Given the description of an element on the screen output the (x, y) to click on. 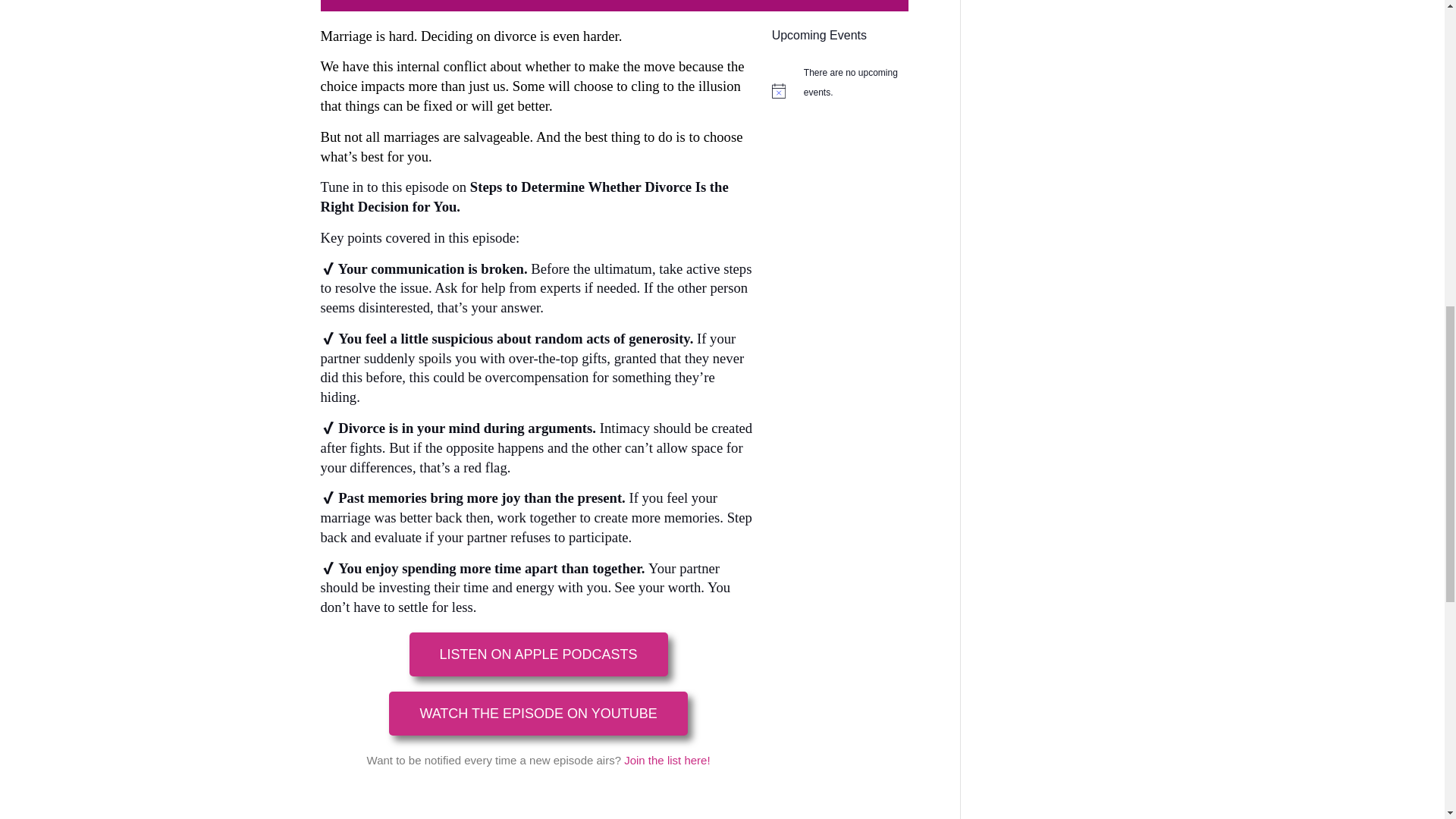
LISTEN ON APPLE PODCASTS (538, 654)
WATCH THE EPISODE ON YOUTUBE (537, 713)
Join the list here! (667, 759)
